Given the description of an element on the screen output the (x, y) to click on. 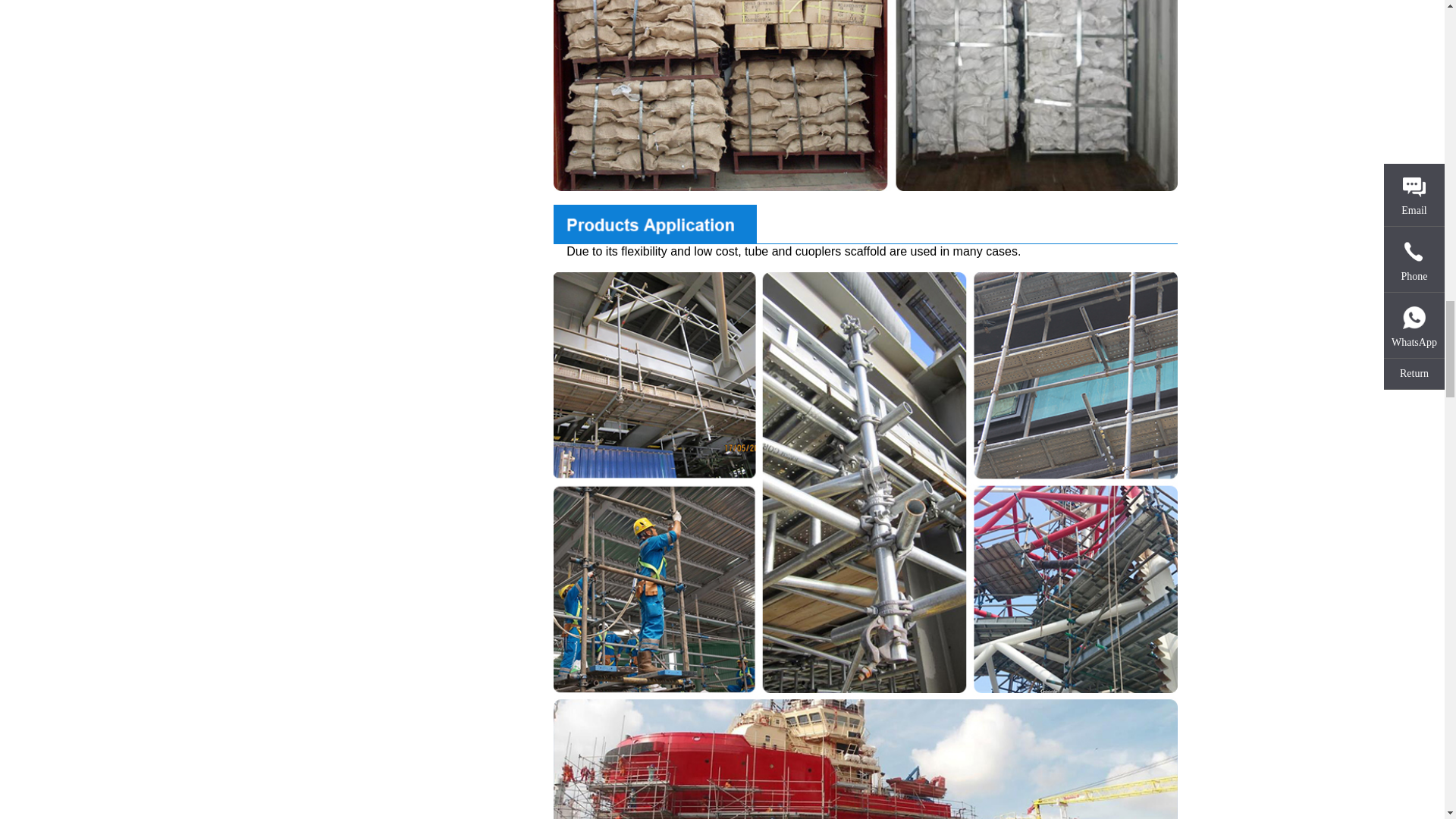
1.jpg (865, 95)
application.png (865, 224)
